Given the description of an element on the screen output the (x, y) to click on. 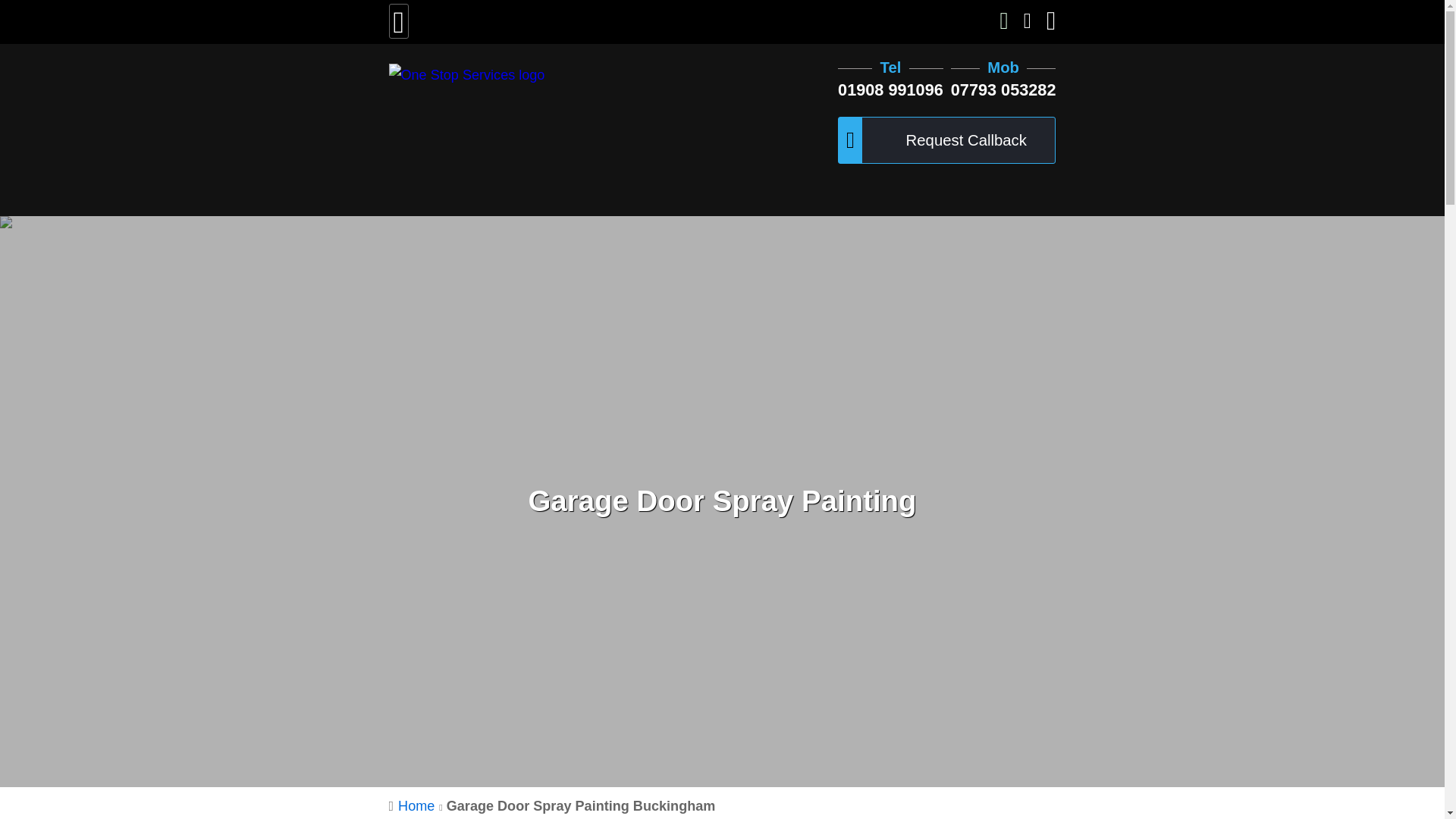
Home (415, 806)
01908 991096 (890, 89)
07793 053282 (1003, 89)
HomeGarage Door Spray Painting Buckingham (555, 806)
Message us on WhatsApp (1004, 22)
HomeGarage Door Spray Painting Buckingham (721, 806)
